Given the description of an element on the screen output the (x, y) to click on. 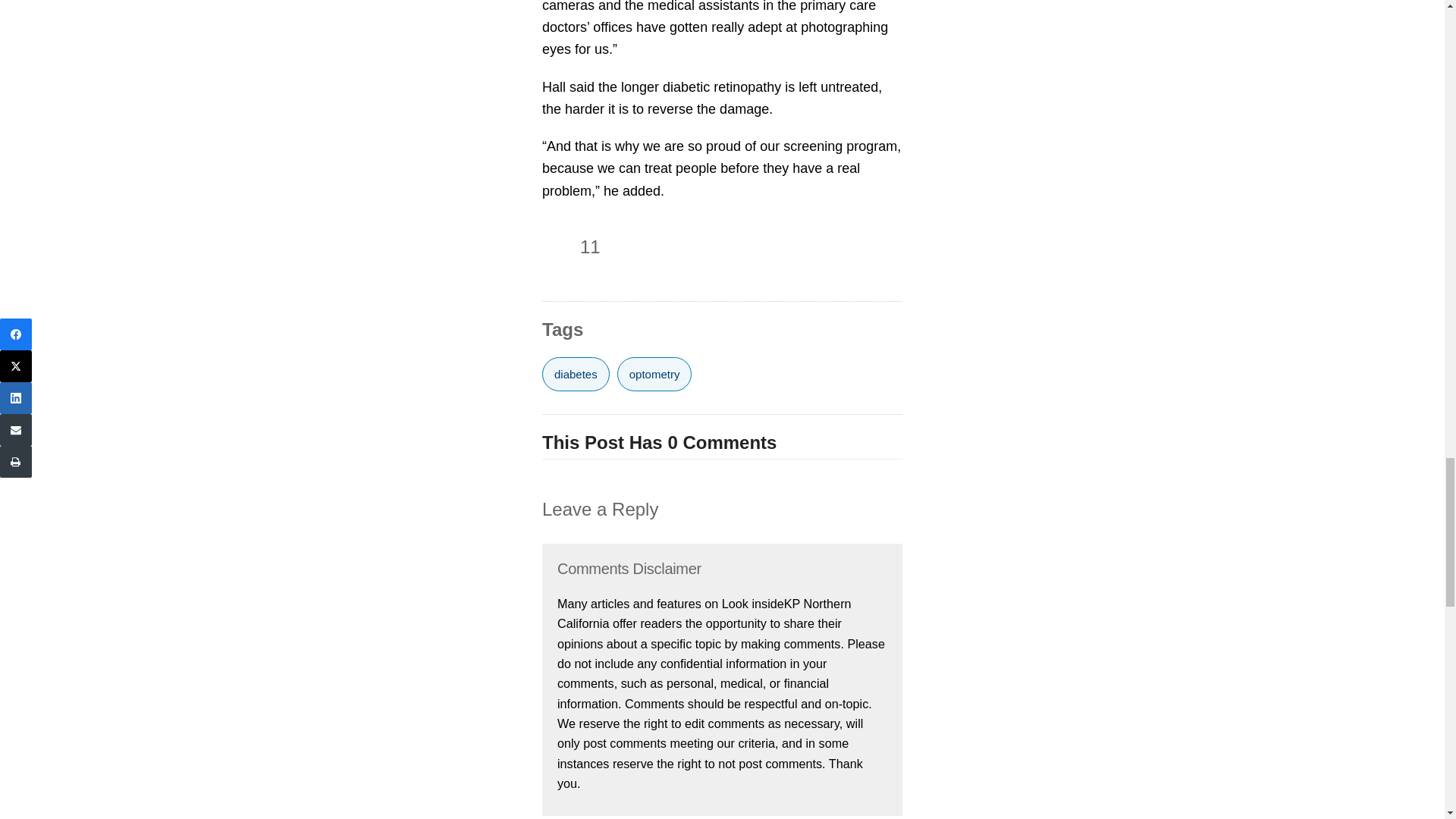
diabetes (575, 374)
Like (556, 247)
optometry (655, 374)
